Given the description of an element on the screen output the (x, y) to click on. 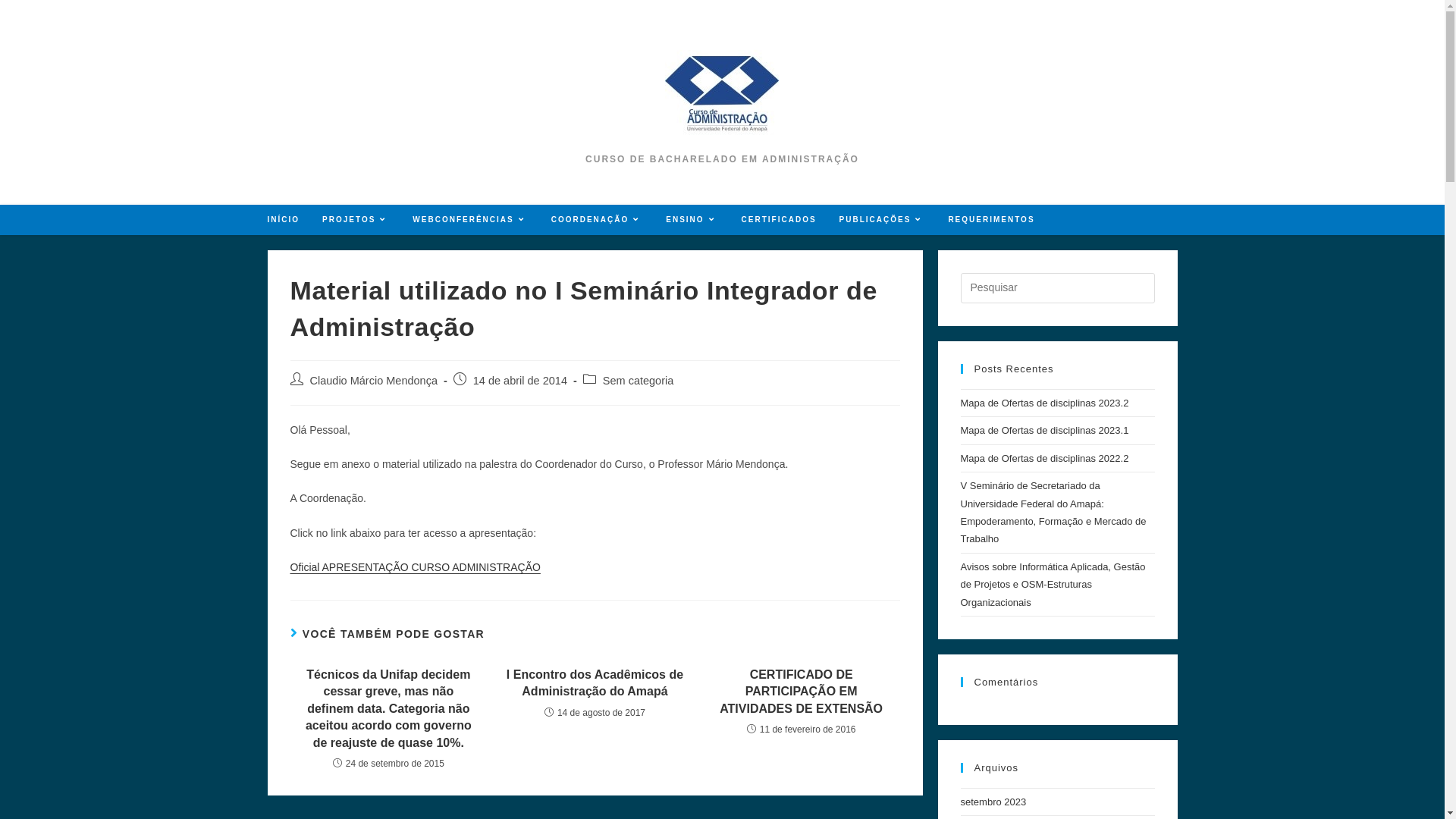
Mapa de Ofertas de disciplinas 2022.2 Element type: text (1044, 458)
REQUERIMENTOS Element type: text (990, 219)
Mapa de Ofertas de disciplinas 2023.2 Element type: text (1044, 402)
ENSINO Element type: text (691, 219)
Sem categoria Element type: text (638, 380)
PROJETOS Element type: text (355, 219)
Mapa de Ofertas de disciplinas 2023.1 Element type: text (1044, 430)
setembro 2023 Element type: text (993, 801)
CERTIFICADOS Element type: text (779, 219)
